Given the description of an element on the screen output the (x, y) to click on. 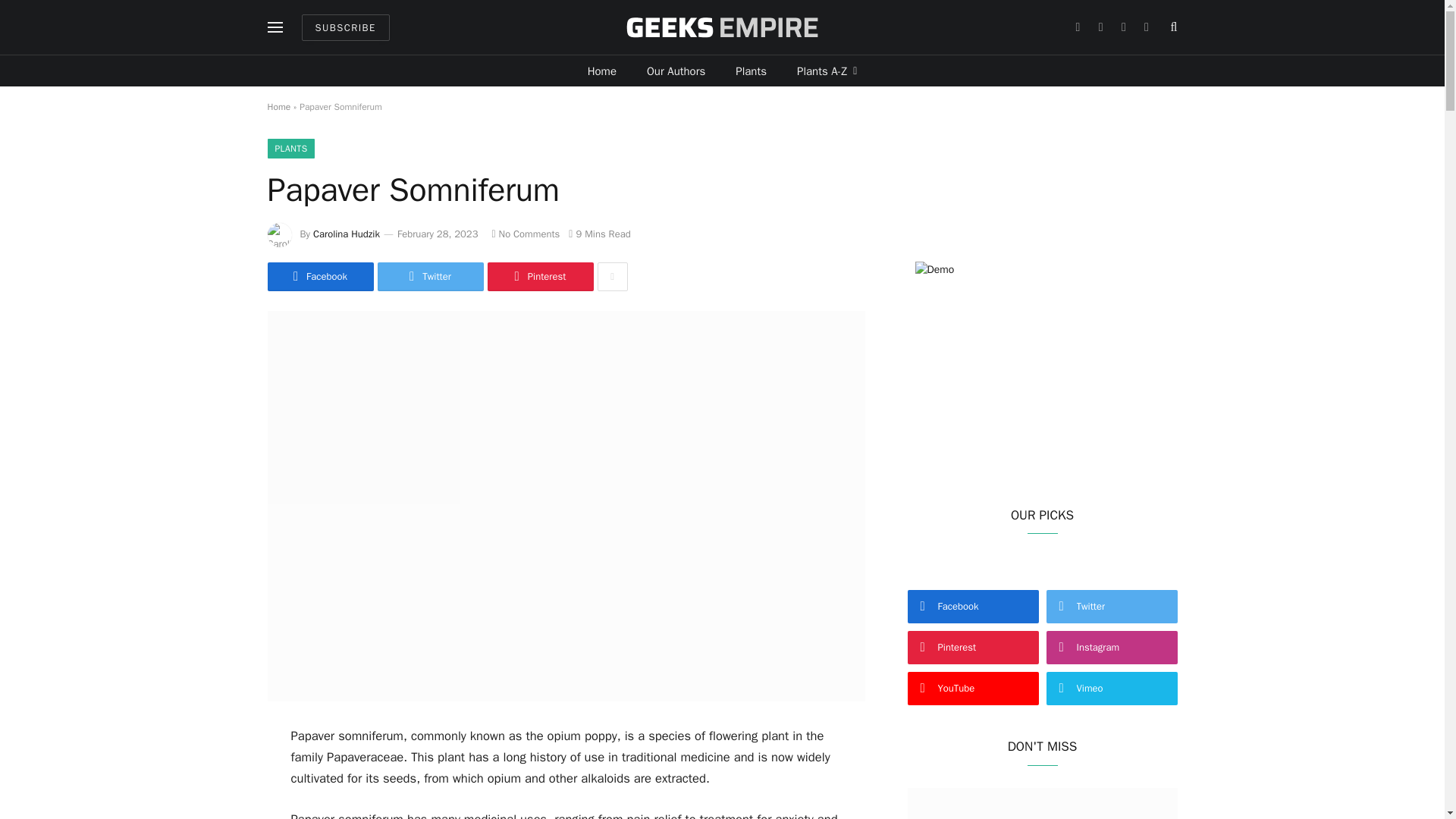
Home (277, 106)
Carolina Hudzik (346, 233)
Our Authors (675, 70)
Plants (750, 70)
Share on Facebook (319, 276)
Posts by Carolina Hudzik (346, 233)
Share on Pinterest (539, 276)
SUBSCRIBE (345, 26)
PLANTS (290, 148)
Home (601, 70)
